Given the description of an element on the screen output the (x, y) to click on. 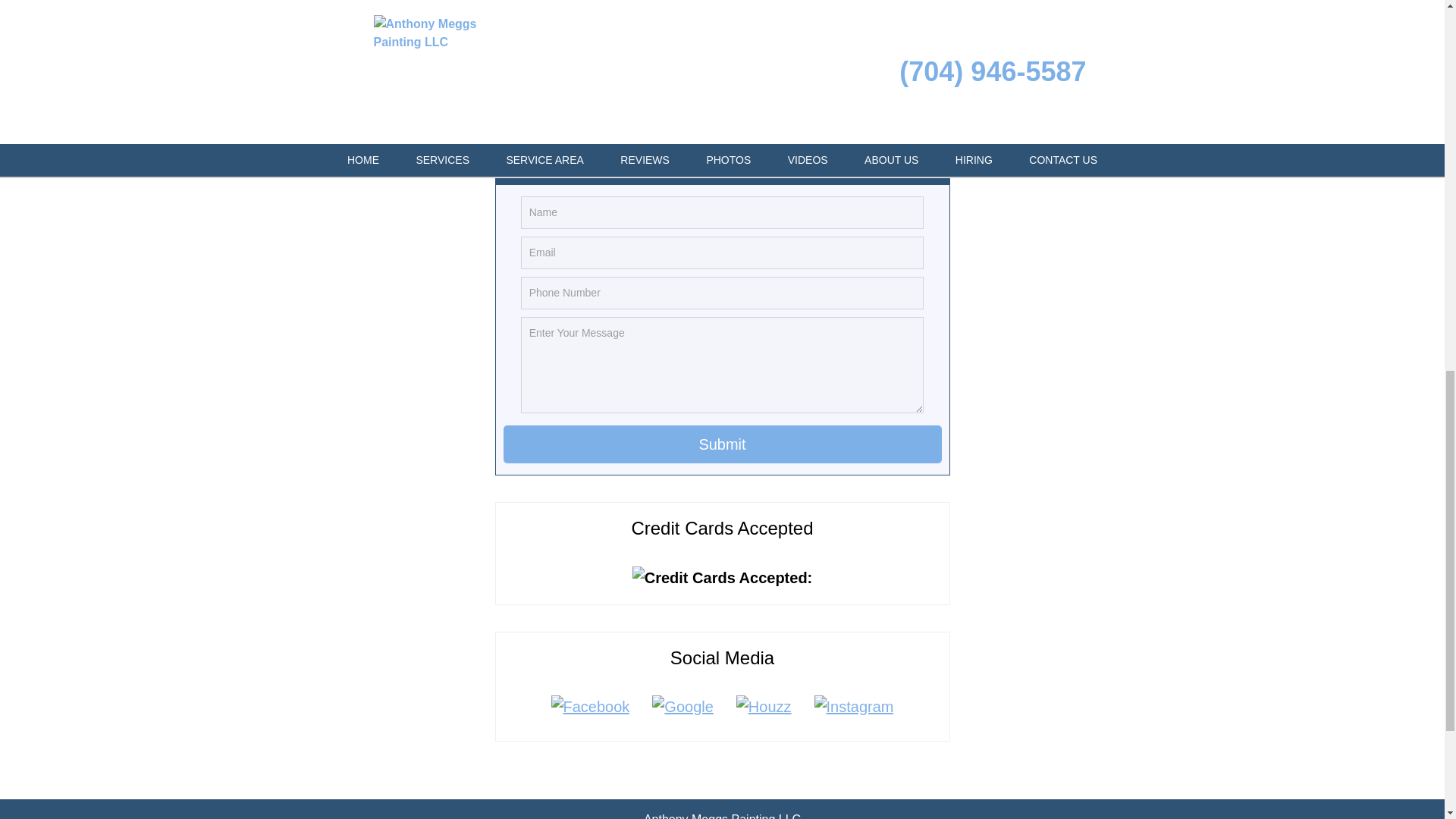
Houzz (764, 706)
Pageland Deck Staining (472, 7)
Facebook (591, 706)
Instagram (854, 706)
Pageland Drywall Repair (473, 74)
Google (682, 706)
Submit (722, 444)
